Given the description of an element on the screen output the (x, y) to click on. 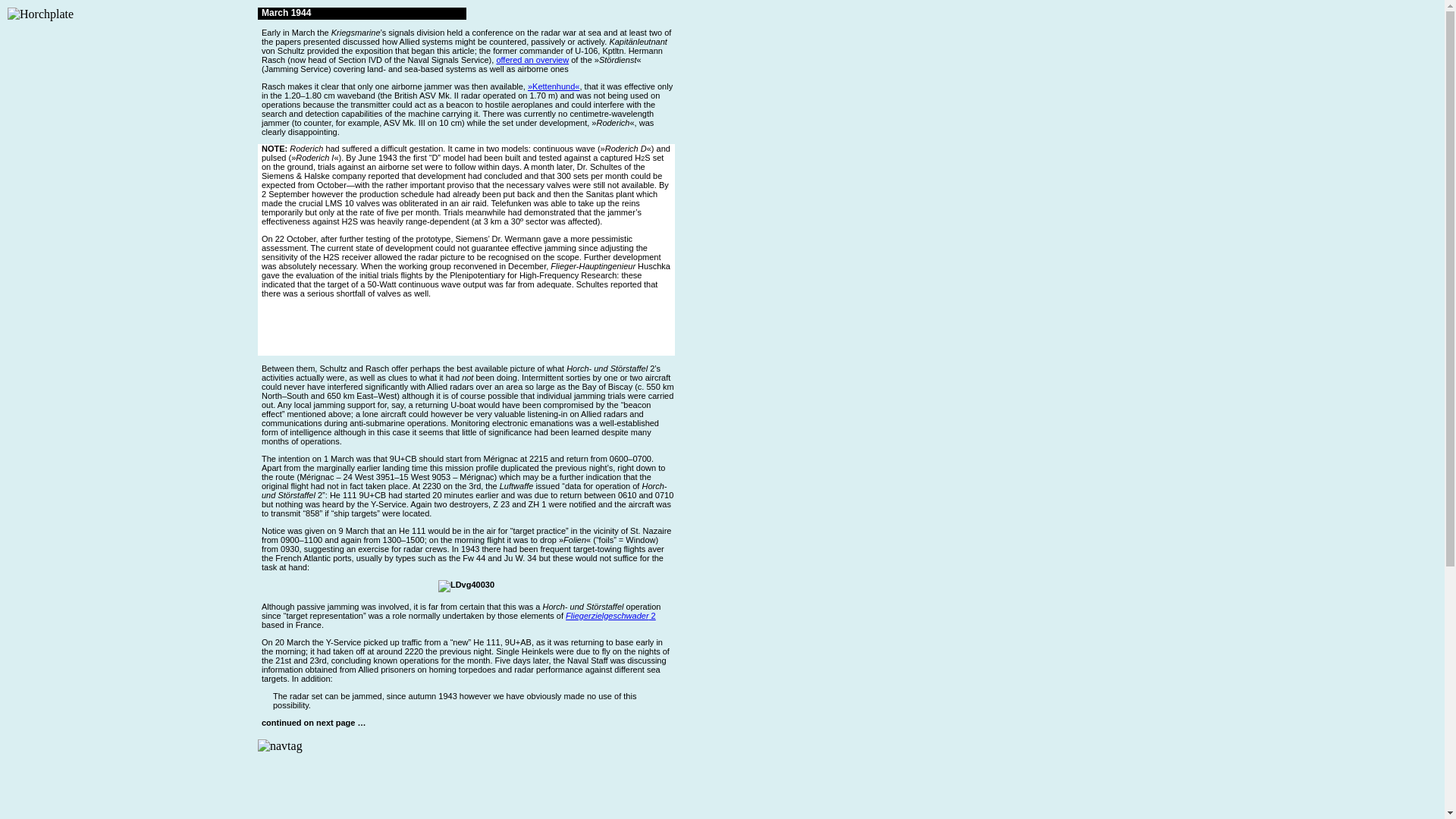
Fliegerzielgeschwader (606, 614)
offered an overview (532, 59)
2 (652, 614)
